Given the description of an element on the screen output the (x, y) to click on. 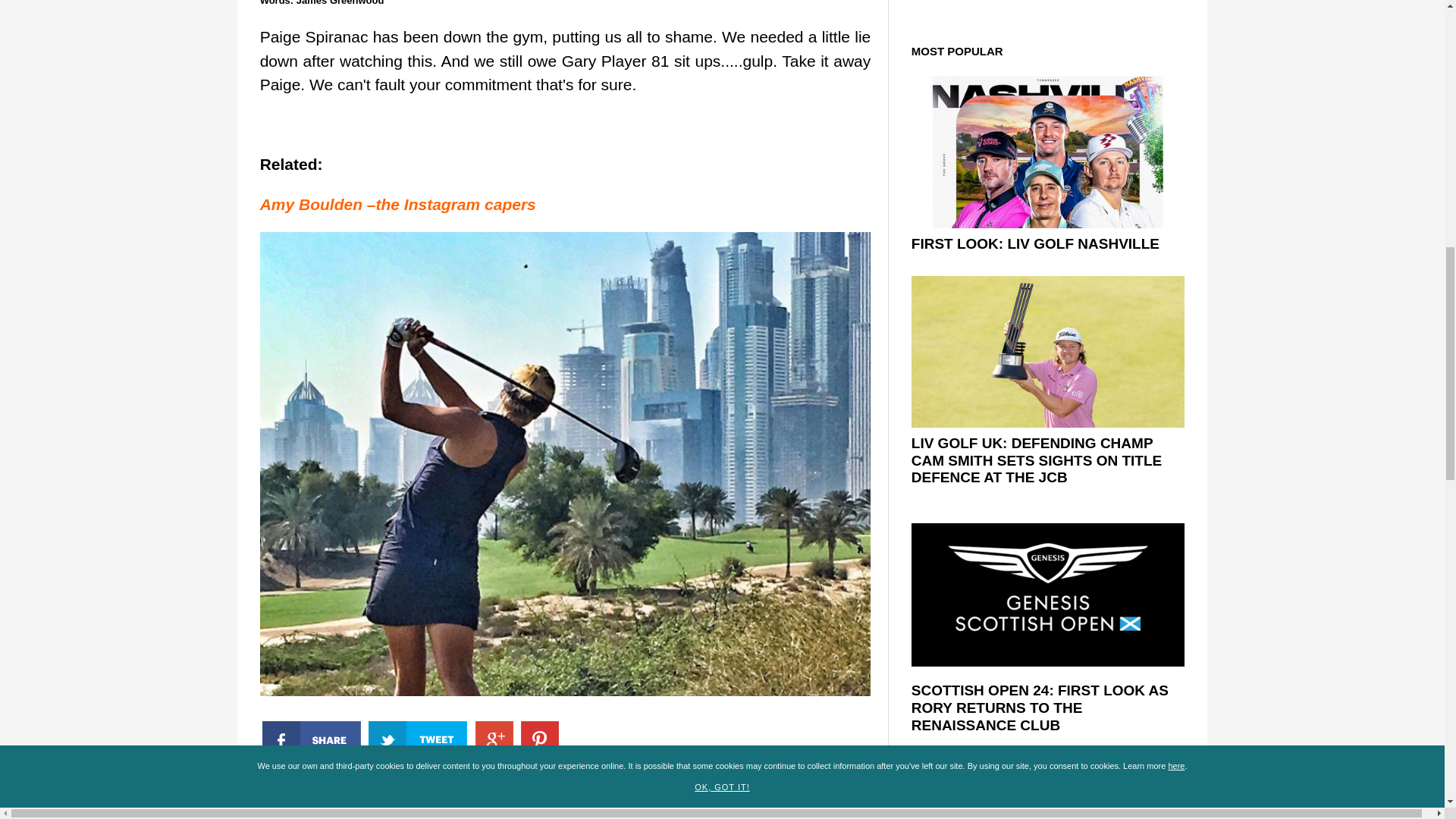
News (515, 789)
2016 (554, 789)
Golf Fitness (612, 789)
FIRST LOOK: LIV GOLF NASHVILLE (1034, 243)
